Given the description of an element on the screen output the (x, y) to click on. 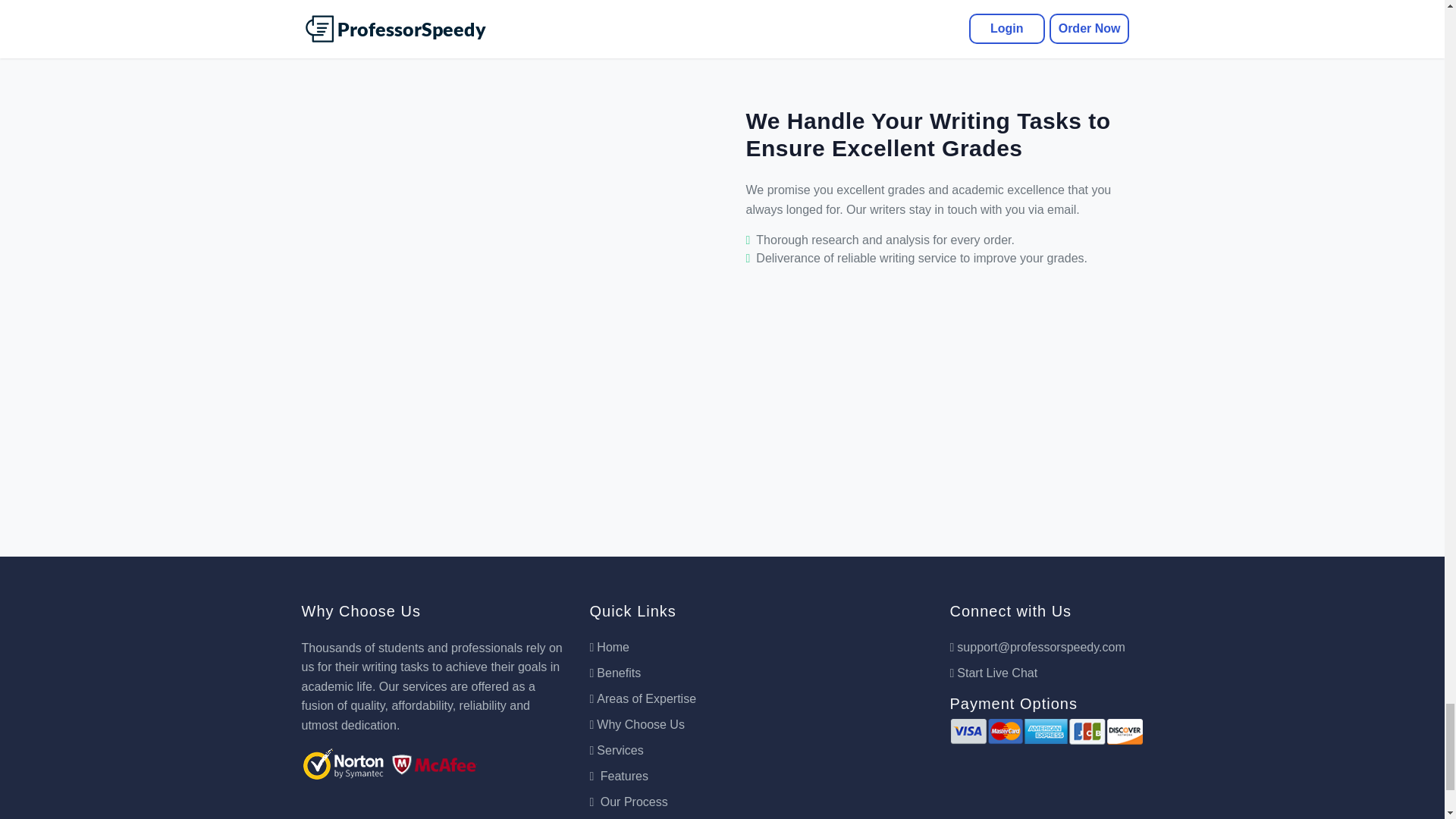
Start Live Chat (992, 672)
Benefits (614, 672)
Home (608, 646)
Areas of Expertise (642, 699)
Why Choose Us (636, 724)
Our Process (627, 801)
Services (616, 749)
Features (618, 775)
